Given the description of an element on the screen output the (x, y) to click on. 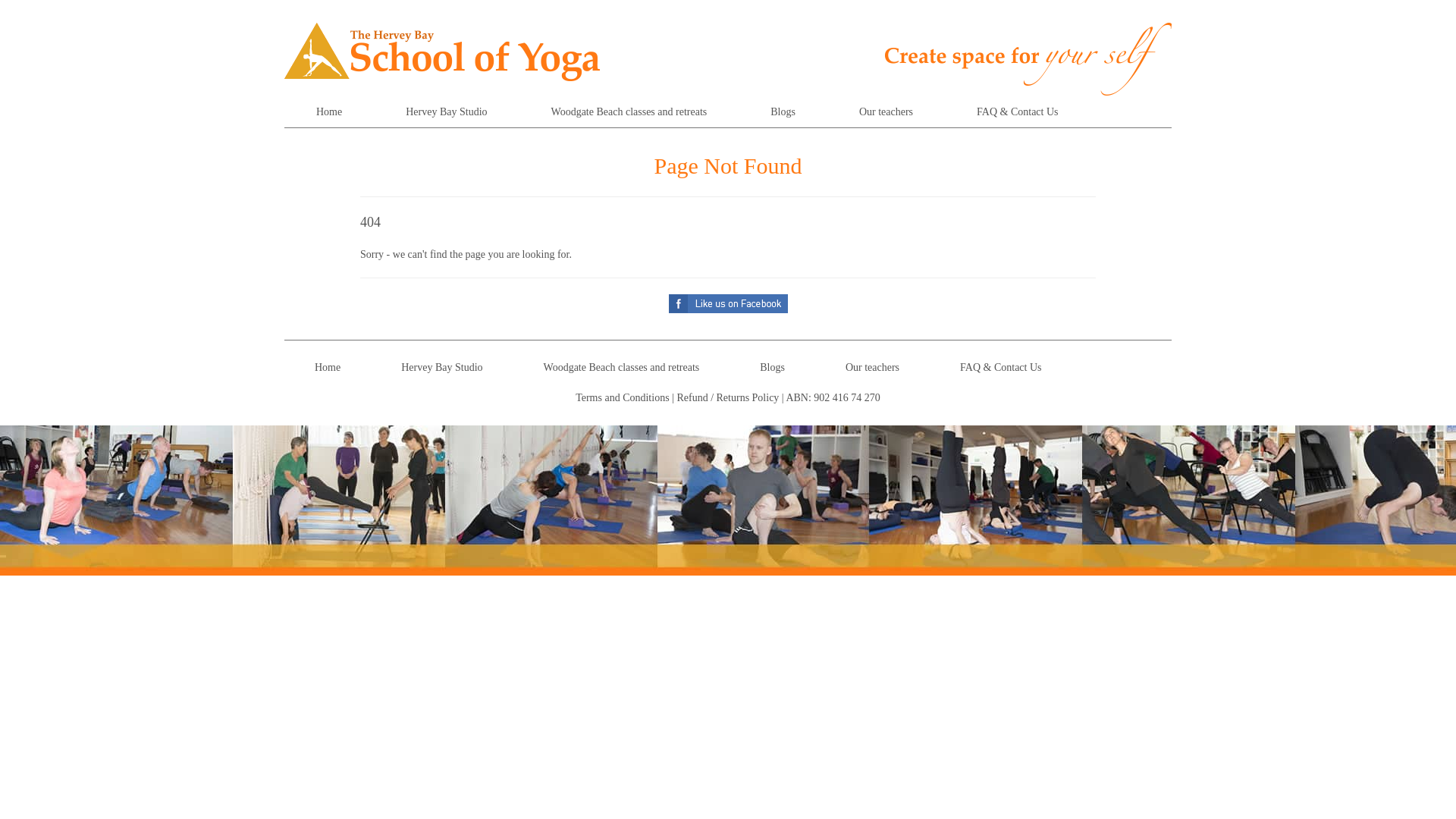
Our teachers Element type: text (872, 367)
Blogs Element type: text (771, 367)
Blogs Element type: text (782, 111)
FAQ & Contact Us Element type: text (1000, 367)
Refund / Returns Policy Element type: text (727, 397)
Woodgate Beach classes and retreats Element type: text (629, 111)
Hervey Bay Studio Element type: text (445, 111)
Our teachers Element type: text (885, 111)
FAQ & Contact Us Element type: text (1016, 111)
Home Element type: text (328, 111)
Home Element type: text (327, 367)
Woodgate Beach classes and retreats Element type: text (621, 367)
Terms and Conditions Element type: text (621, 397)
Hervey Bay Studio Element type: text (441, 367)
